Given the description of an element on the screen output the (x, y) to click on. 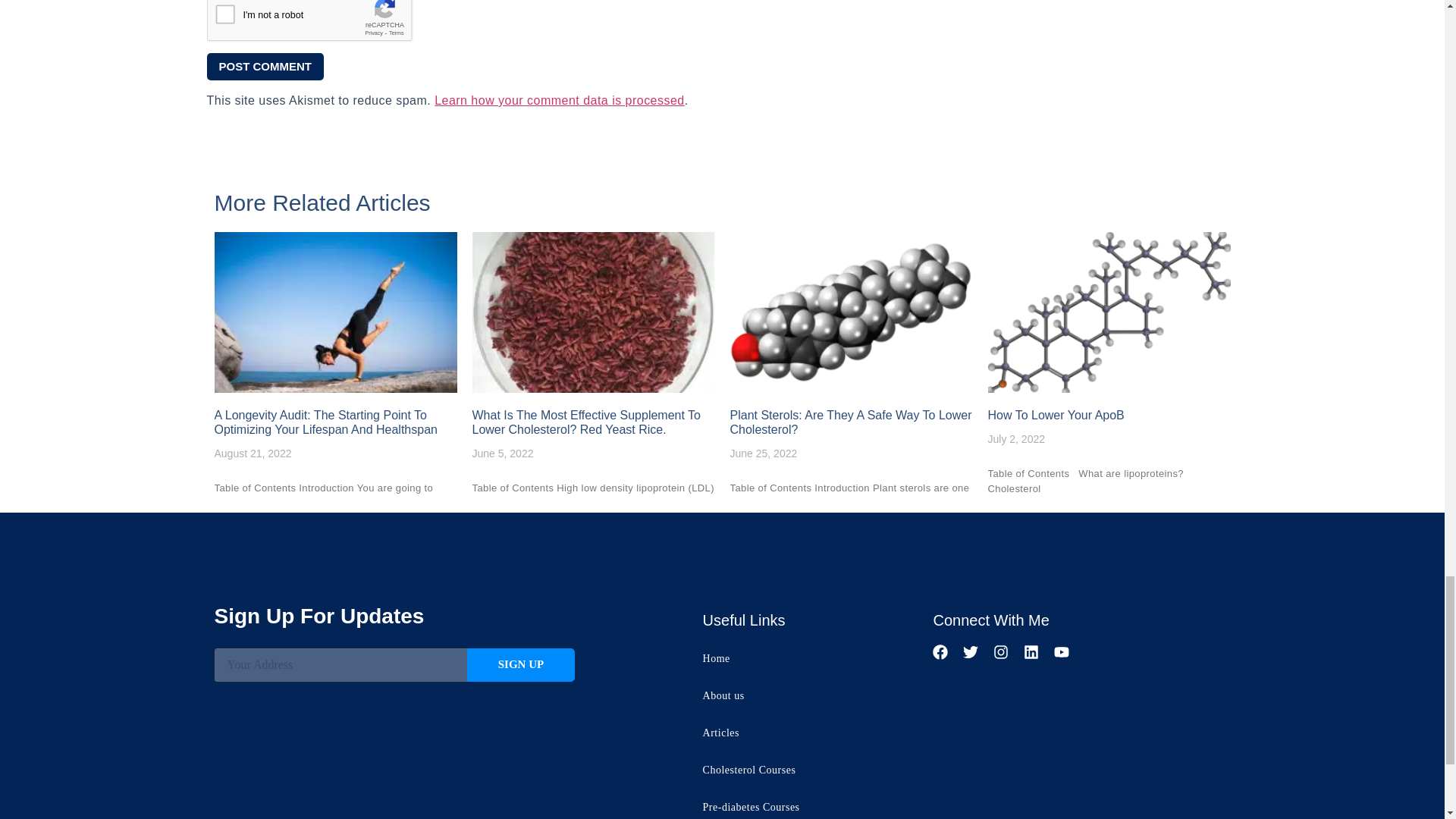
SIGN UP (521, 664)
Post Comment (264, 66)
Learn how your comment data is processed (558, 100)
Post Comment (264, 66)
reCAPTCHA (321, 24)
